Given the description of an element on the screen output the (x, y) to click on. 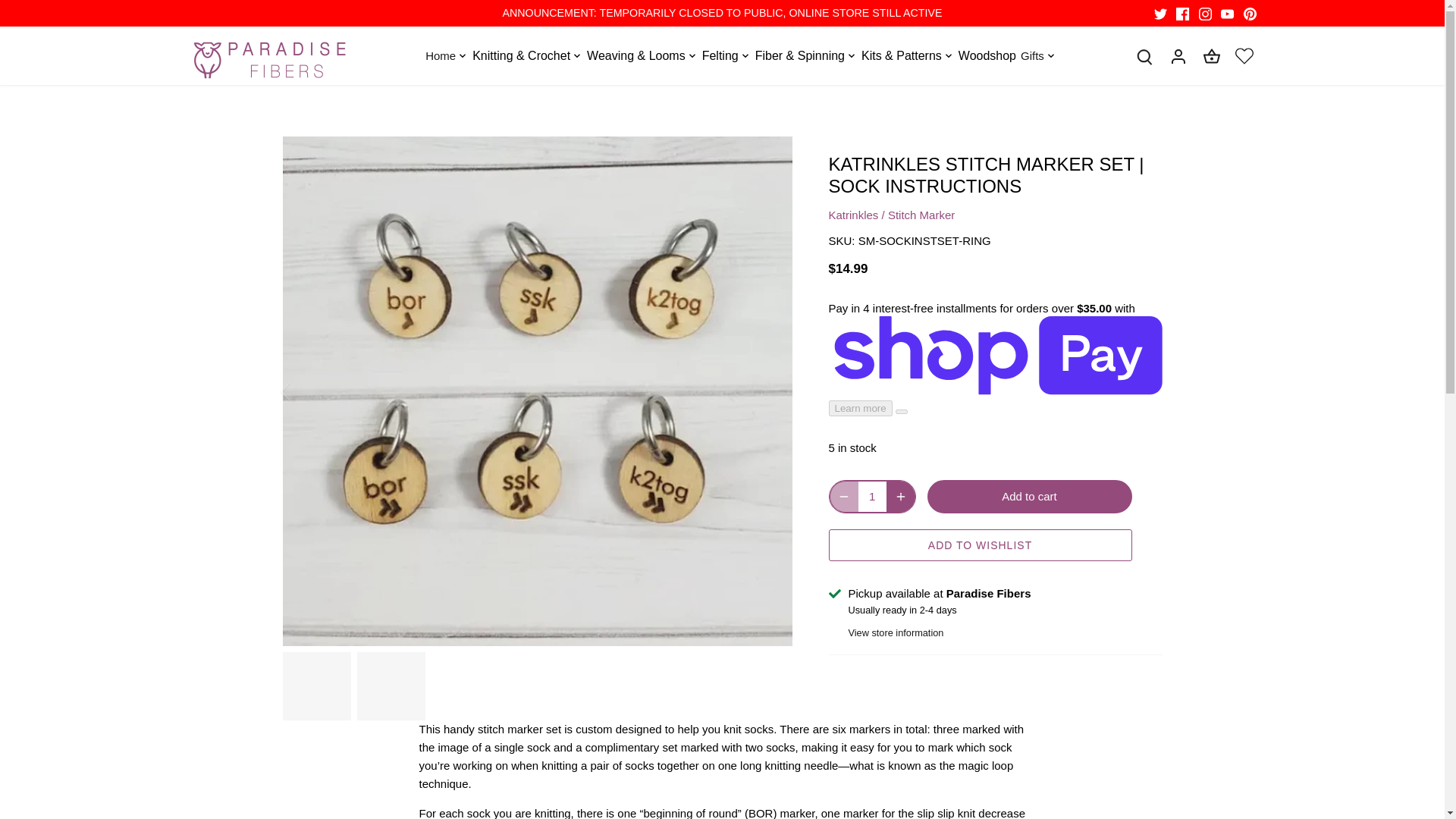
Pinterest (1249, 13)
Facebook (1182, 13)
Home (439, 55)
Instagram (1204, 13)
Twitter (1160, 13)
1 (872, 496)
Youtube (1227, 13)
